Given the description of an element on the screen output the (x, y) to click on. 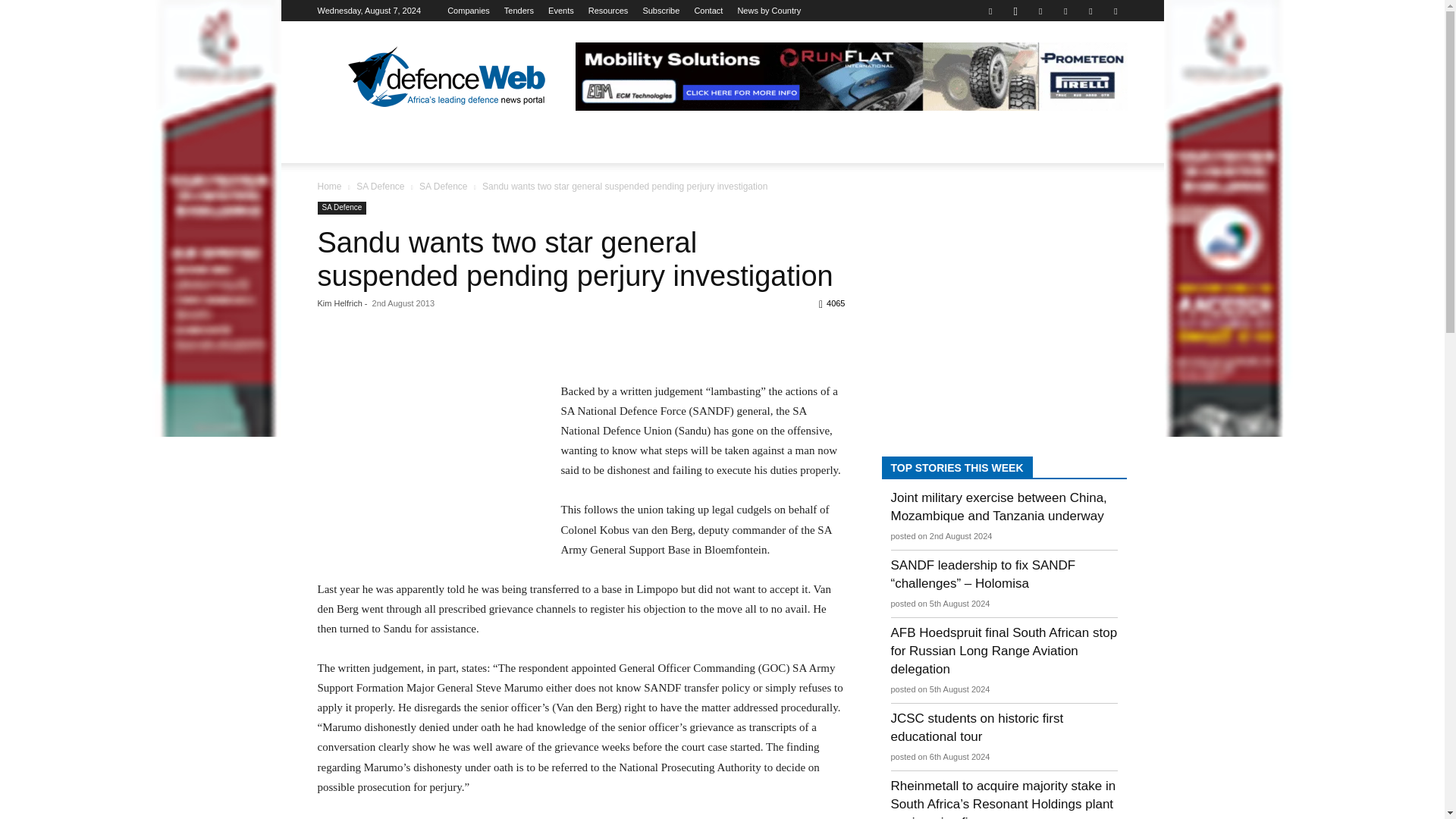
Youtube (1114, 10)
Facebook (989, 10)
Linkedin (1040, 10)
Twitter (1090, 10)
Mail (1065, 10)
Instagram (1015, 10)
